Given the description of an element on the screen output the (x, y) to click on. 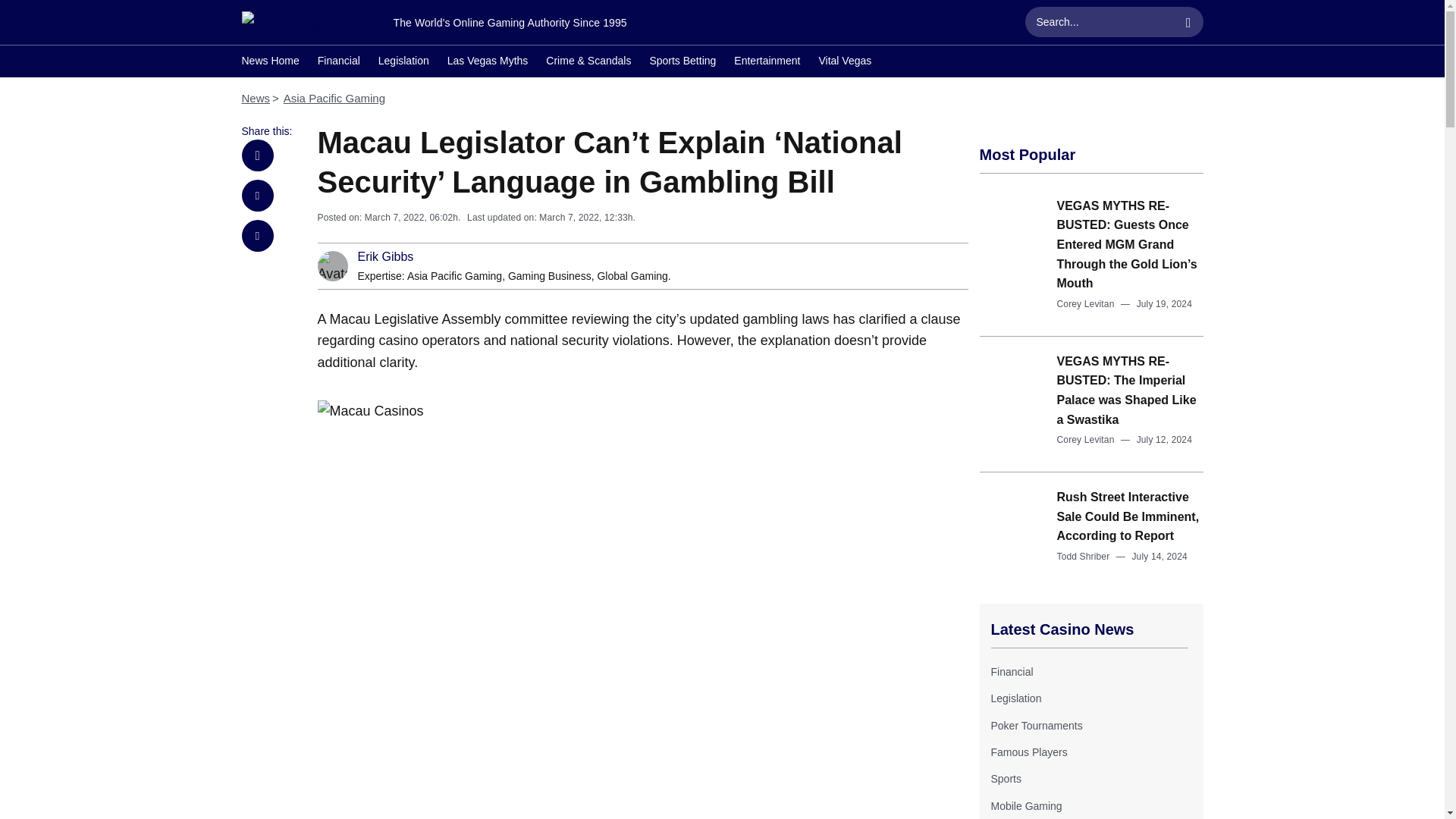
Mobile Gaming (1025, 806)
Financial (1011, 671)
Poker Tournaments (1035, 725)
Financial (1011, 671)
Poker Tournaments (1035, 725)
Sports (1005, 778)
Las Vegas Myths (487, 61)
Gaming Business (549, 275)
Sports Betting (682, 61)
Legislation (403, 61)
Erik Gibbs (385, 256)
Corey Levitan (1086, 439)
Sports (1005, 778)
Entertainment (766, 61)
Global Gaming (631, 275)
